Given the description of an element on the screen output the (x, y) to click on. 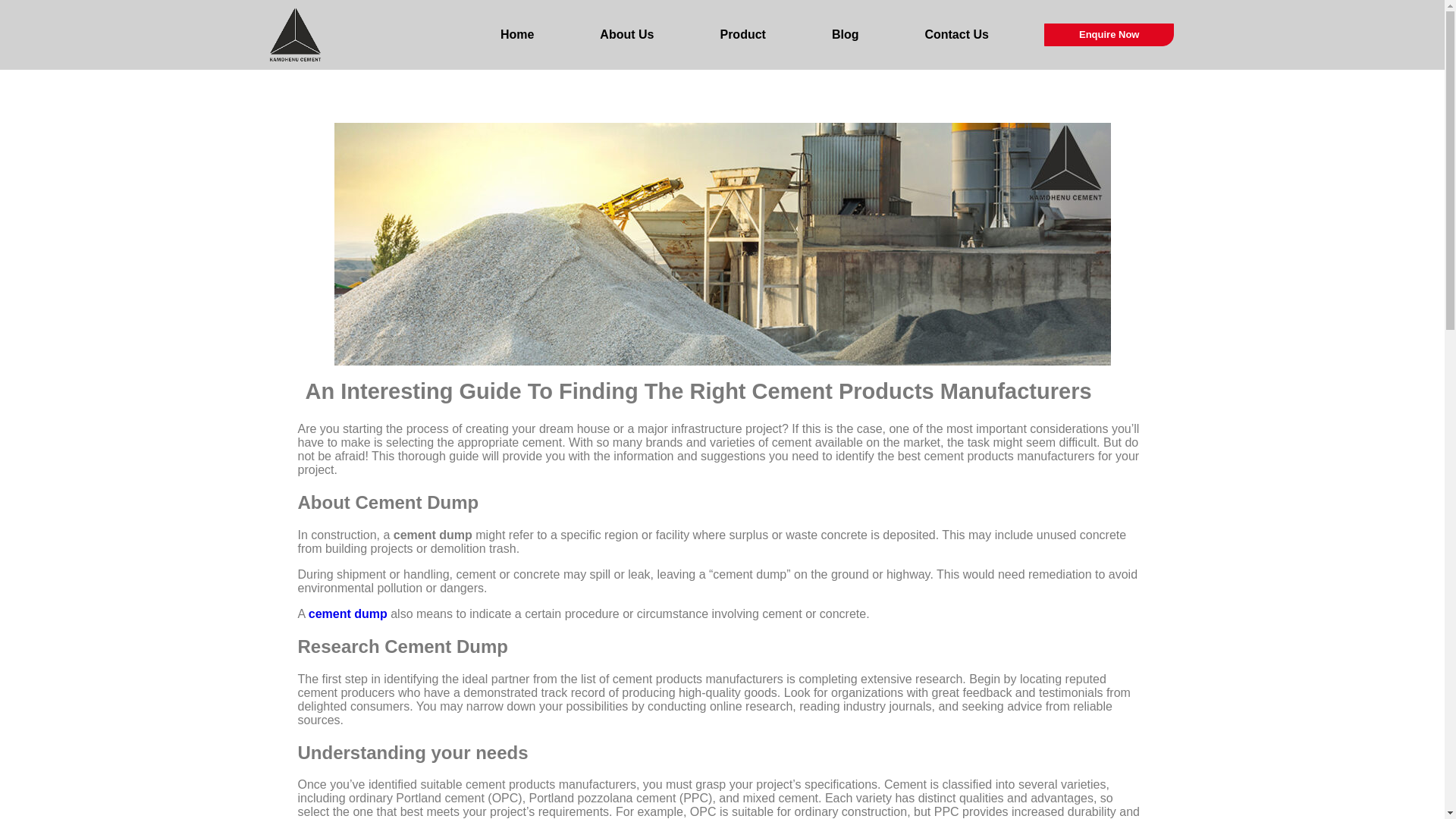
cement dump (347, 613)
Home (516, 34)
Blog (844, 34)
Contact Us (956, 34)
About Us (627, 34)
Product (742, 34)
Enquire Now (1108, 34)
